Given the description of an element on the screen output the (x, y) to click on. 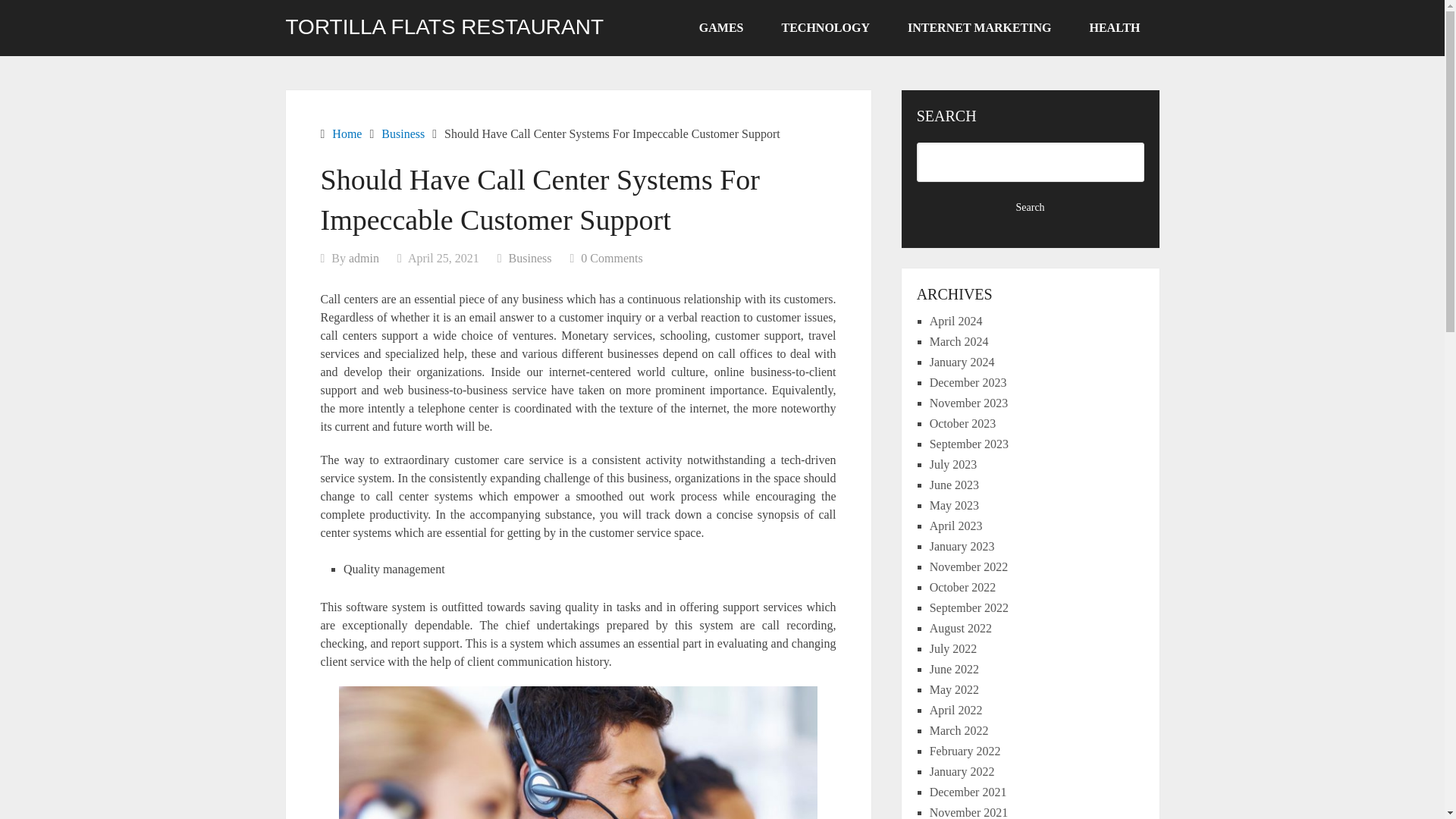
January 2024 (962, 361)
Posts by admin (363, 257)
TECHNOLOGY (825, 28)
September 2023 (969, 443)
May 2023 (954, 504)
November 2023 (969, 402)
June 2022 (954, 668)
February 2022 (965, 750)
July 2023 (953, 463)
TORTILLA FLATS RESTAURANT (444, 26)
